Given the description of an element on the screen output the (x, y) to click on. 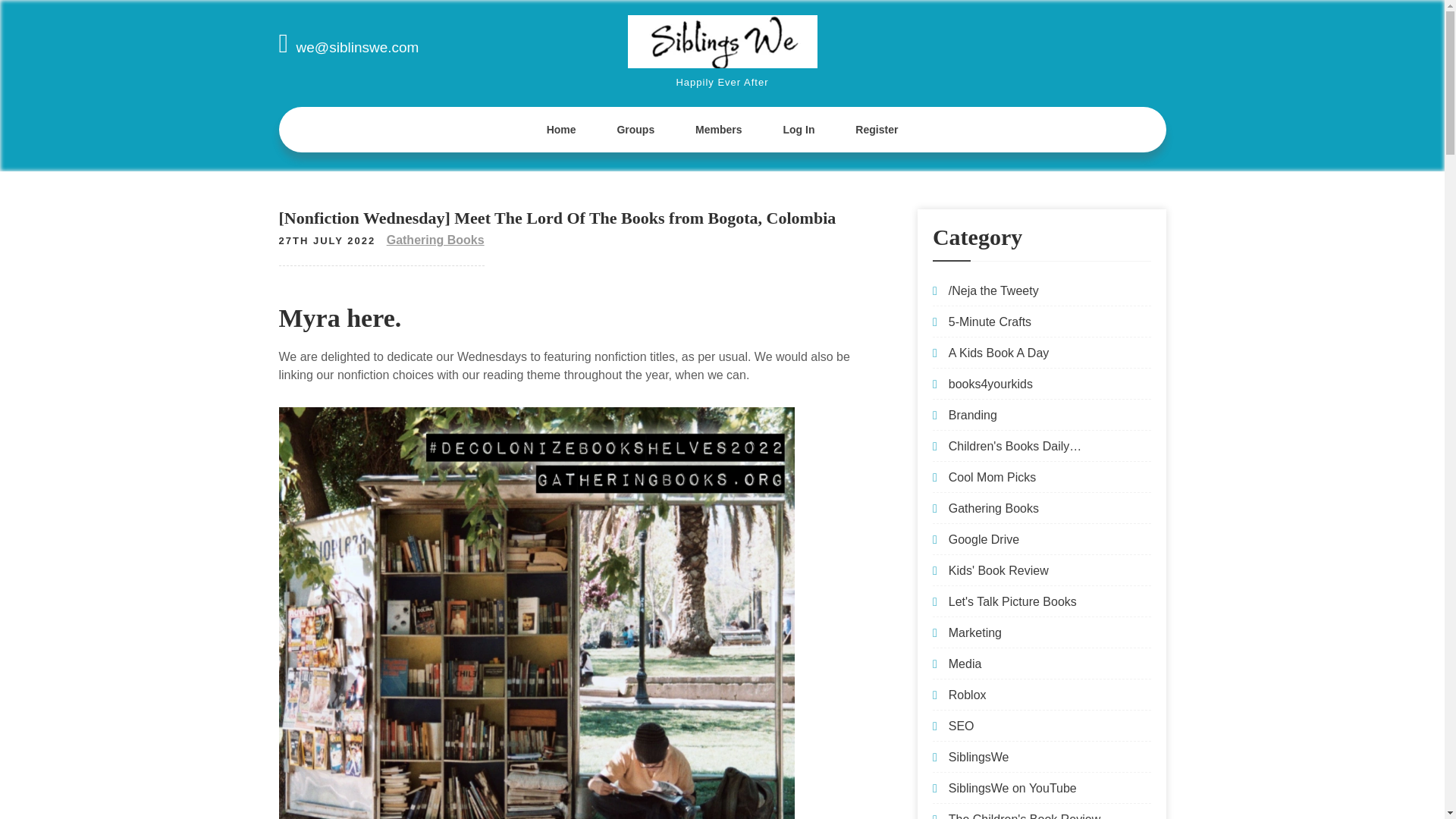
Groups (634, 129)
Cool Mom Picks (992, 477)
SiblingsWe (979, 757)
Let's Talk Picture Books (1013, 601)
Gathering Books (994, 508)
Media (965, 663)
Marketing (975, 632)
Google Drive (984, 539)
Home (561, 129)
A Kids Book A Day (999, 352)
